Given the description of an element on the screen output the (x, y) to click on. 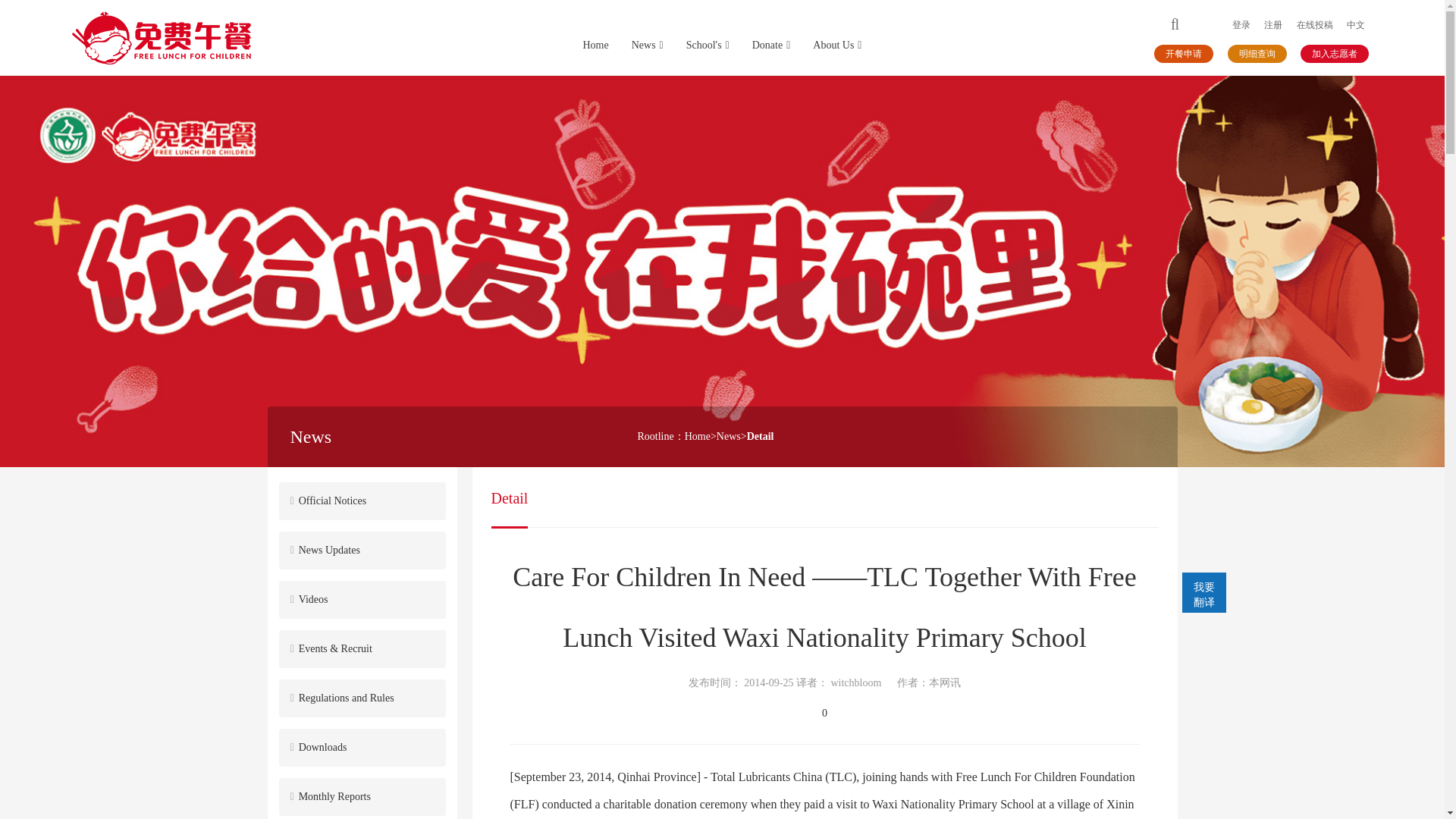
Donate (771, 45)
Home (697, 436)
About Us (837, 45)
News (647, 45)
School's (708, 45)
